Given the description of an element on the screen output the (x, y) to click on. 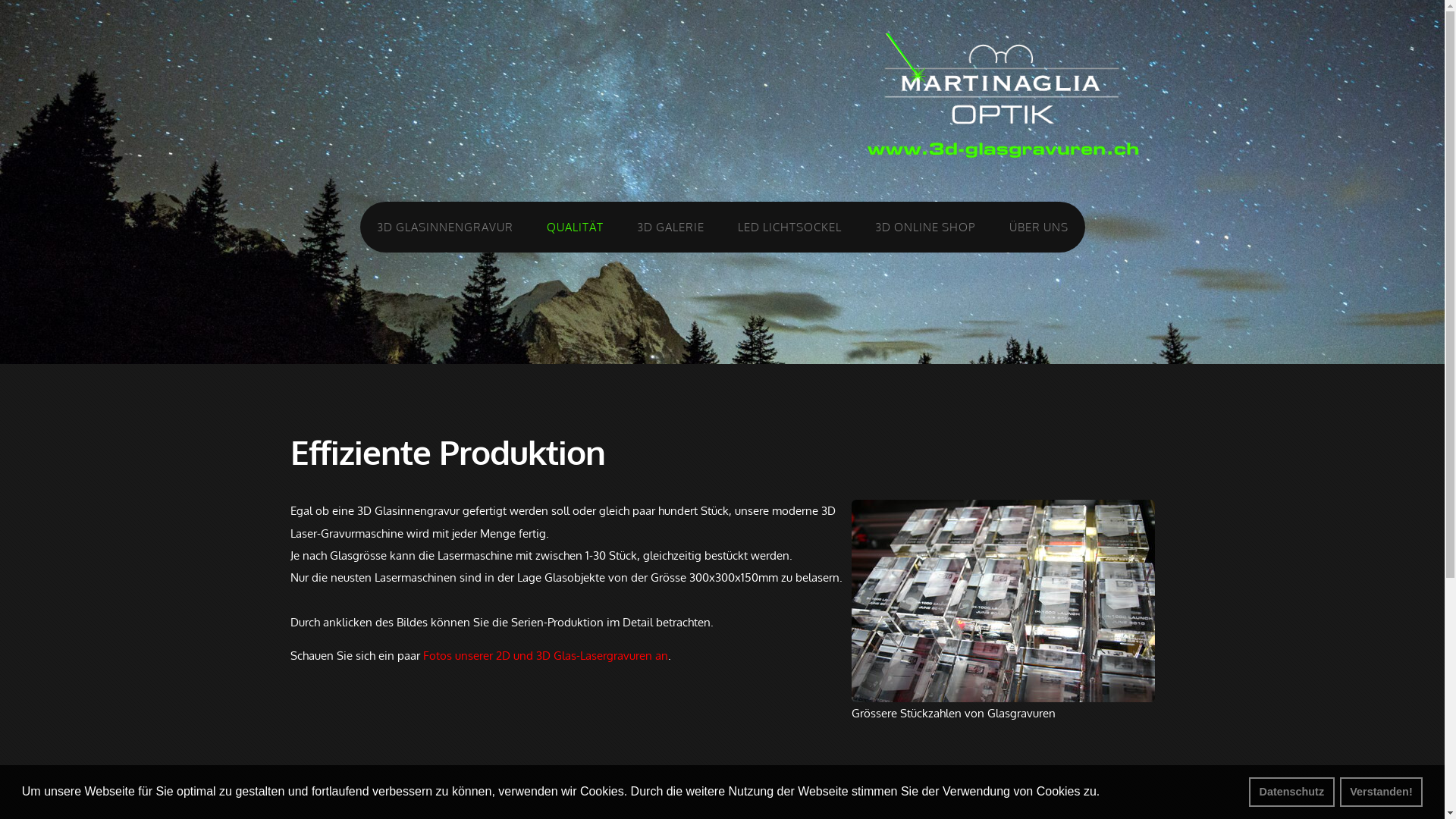
an Element type: text (660, 655)
LED LICHTSOCKEL Element type: text (788, 226)
Verstanden! Element type: text (1380, 791)
3D GLASINNENGRAVUR Element type: text (444, 226)
3D GALERIE Element type: text (670, 226)
Datenschutz Element type: text (1291, 791)
Fotos unserer 2D und 3D Glas-Lasergravuren Element type: text (537, 655)
3D ONLINE SHOP Element type: text (925, 226)
